Given the description of an element on the screen output the (x, y) to click on. 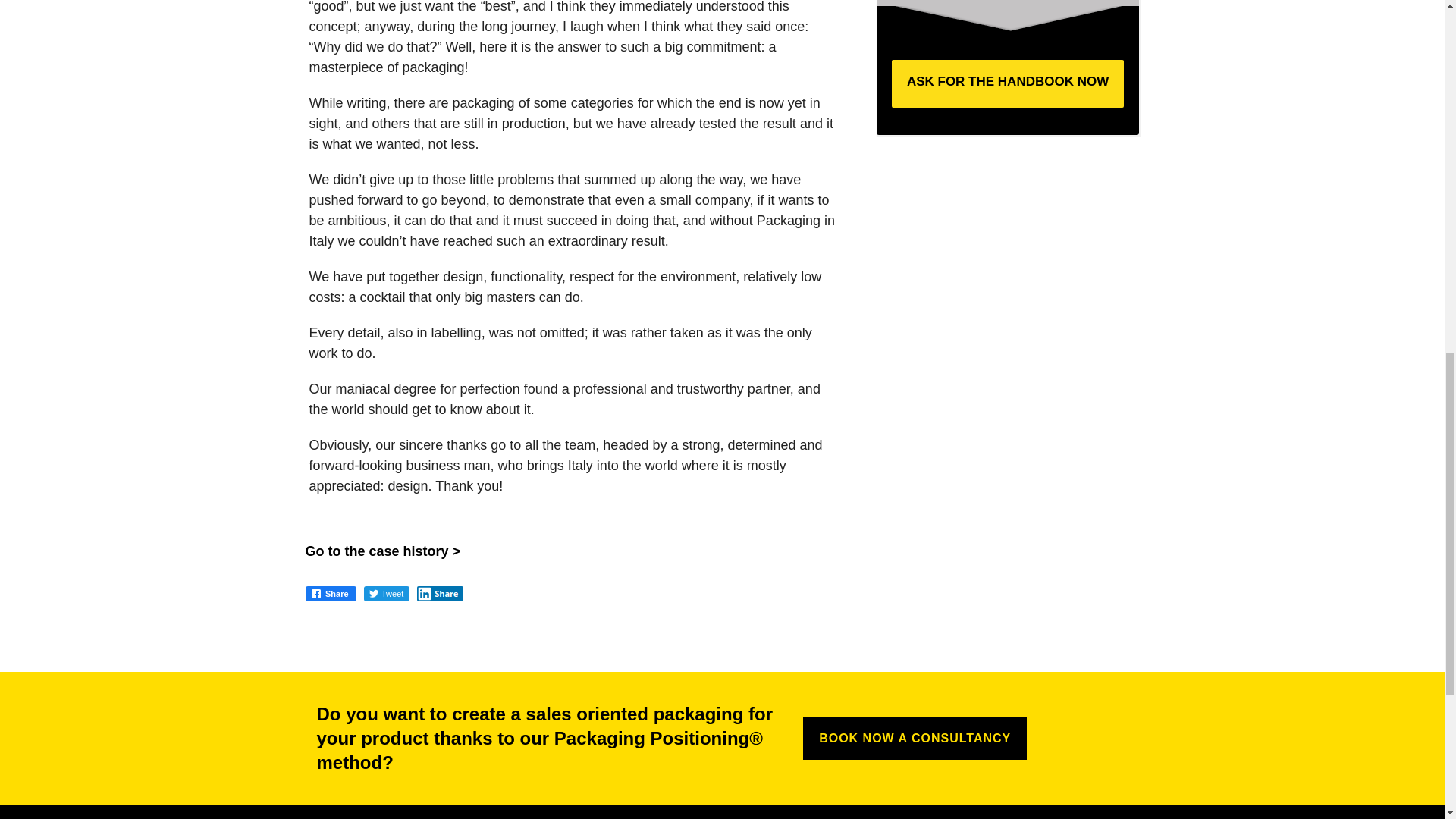
Share on Twitter (386, 596)
